Given the description of an element on the screen output the (x, y) to click on. 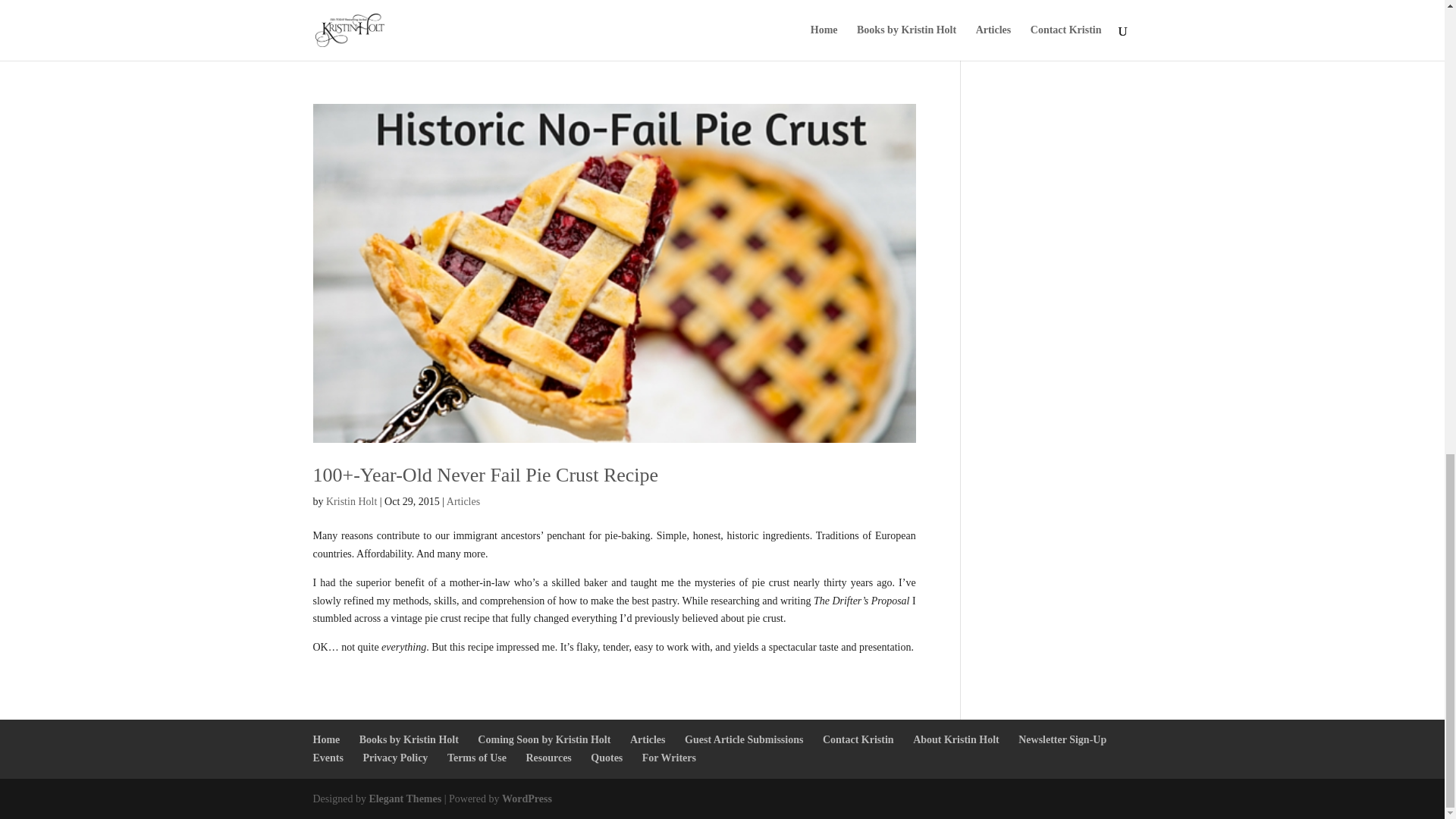
Guest Article Submissions (743, 739)
About Kristin Holt (955, 739)
Privacy Policy (395, 757)
Resources (547, 757)
Posts by Kristin Holt (351, 501)
Newsletter Sign-Up (1061, 739)
Contact Kristin (857, 739)
Articles (463, 501)
Books by Kristin Holt (408, 739)
Coming Soon by Kristin Holt (543, 739)
Events (327, 757)
Premium WordPress Themes (404, 798)
Quotes (607, 757)
Home (326, 739)
Terms of Use (476, 757)
